Given the description of an element on the screen output the (x, y) to click on. 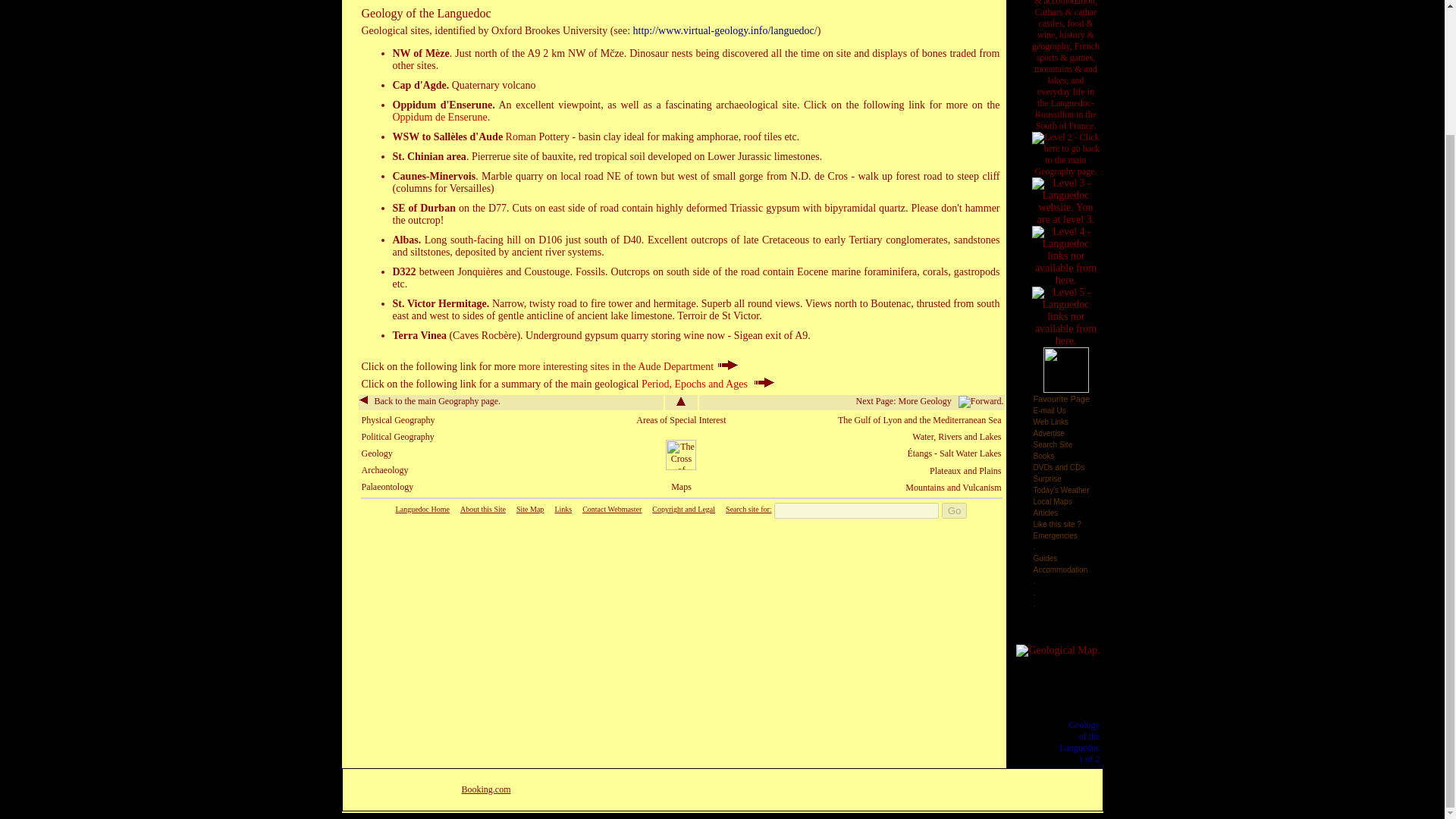
Roman (520, 136)
Rivers (950, 436)
Geology (376, 452)
and Lakes (982, 436)
Oppidum de Enserune (440, 116)
more interesting sites in the Aude Department  (628, 366)
Next Page: More Geology    (930, 400)
Physical Geography (397, 419)
Political Geography (397, 436)
Areas of Special Interest (680, 419)
The Gulf of Lyon and the Mediterranean Sea (919, 419)
Period, Epochs and Ages   (708, 383)
Go (955, 510)
Water, (924, 436)
Archaeology (384, 470)
